Given the description of an element on the screen output the (x, y) to click on. 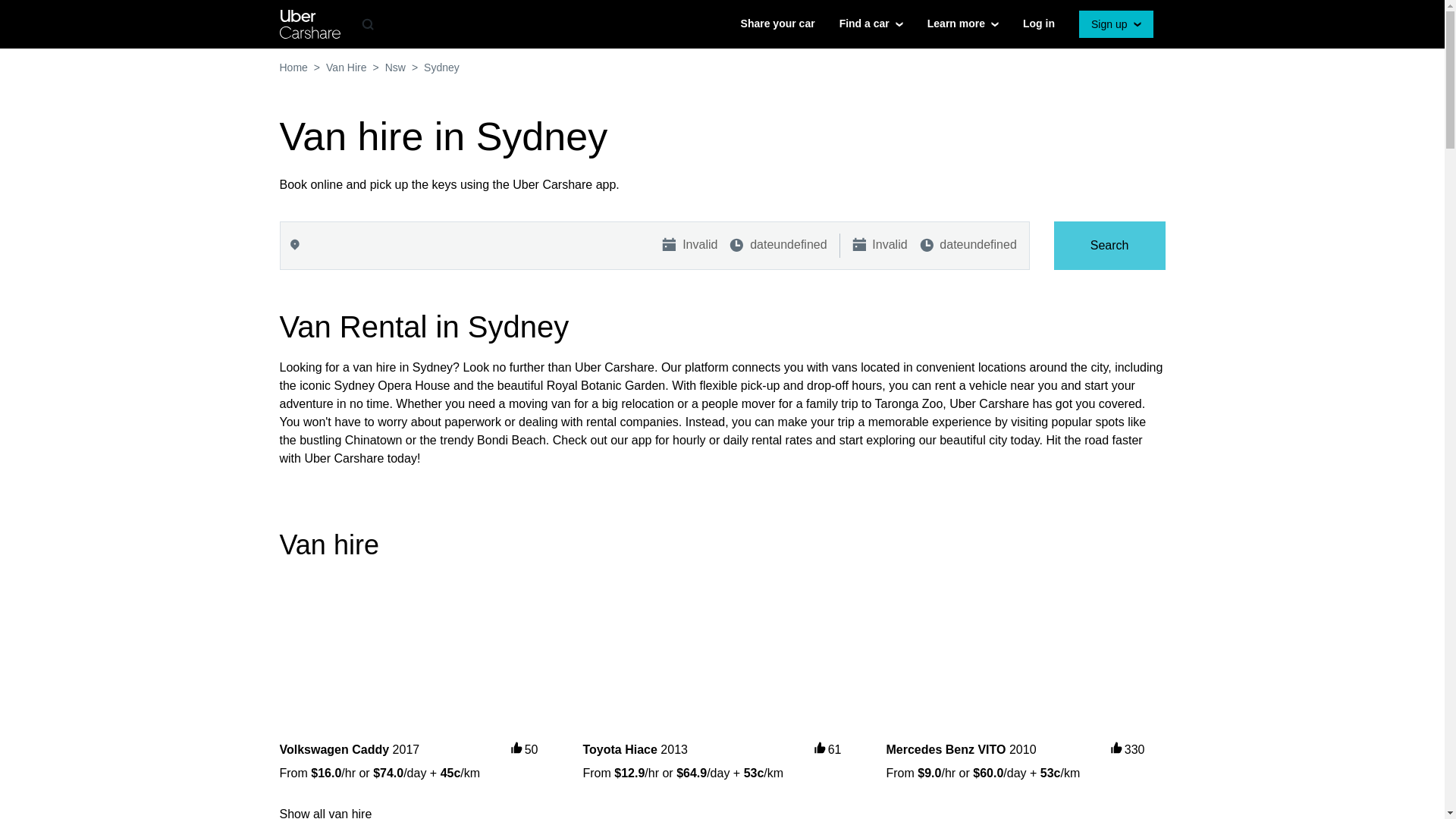
Share your car (778, 24)
Find a car (871, 24)
